Given the description of an element on the screen output the (x, y) to click on. 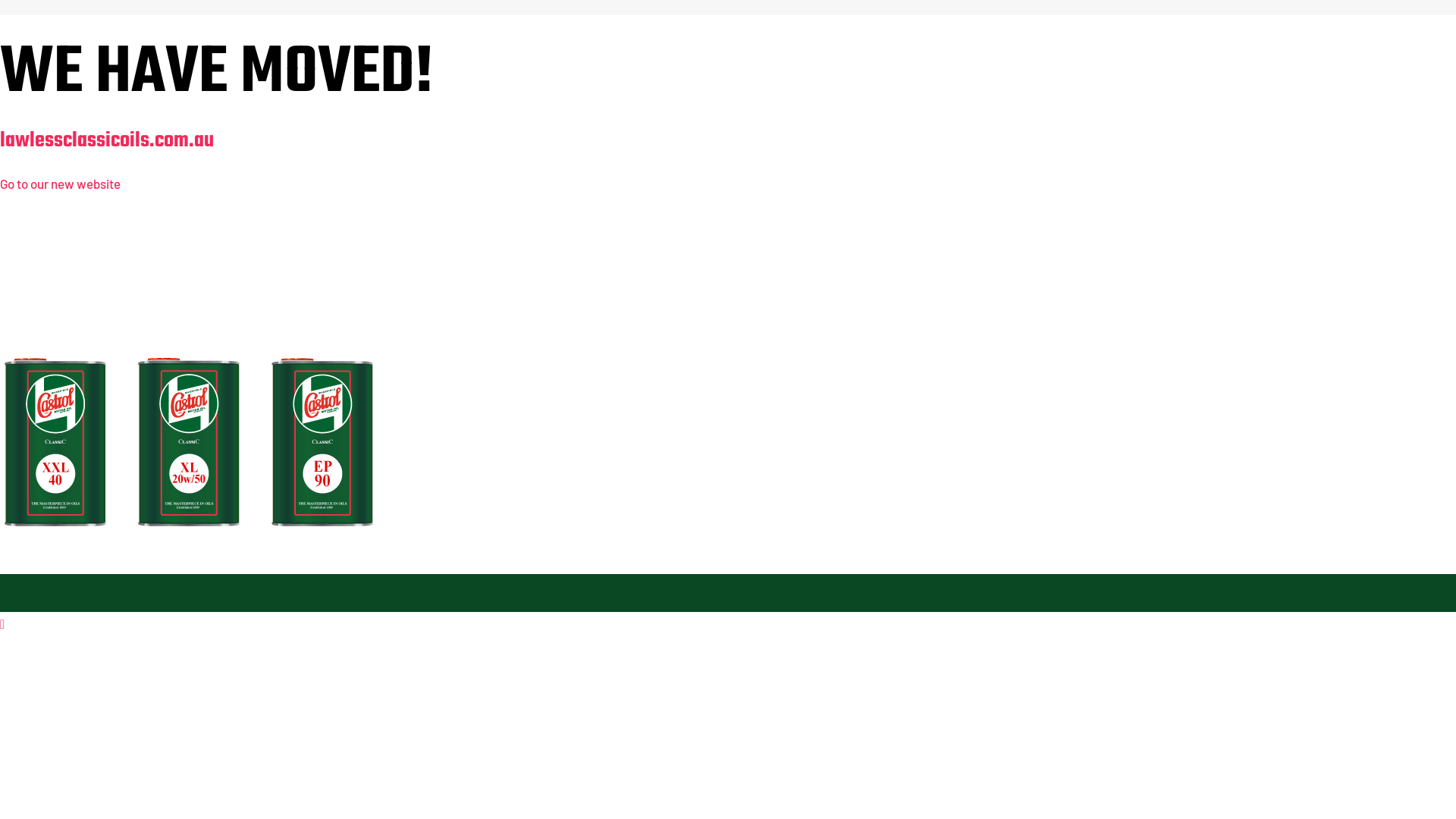
Castrol Classic Engine Oils and Gear Oils Element type: hover (189, 384)
lawlessclassicoils.com.au Element type: text (106, 140)
Go to our new website Element type: text (60, 183)
